Given the description of an element on the screen output the (x, y) to click on. 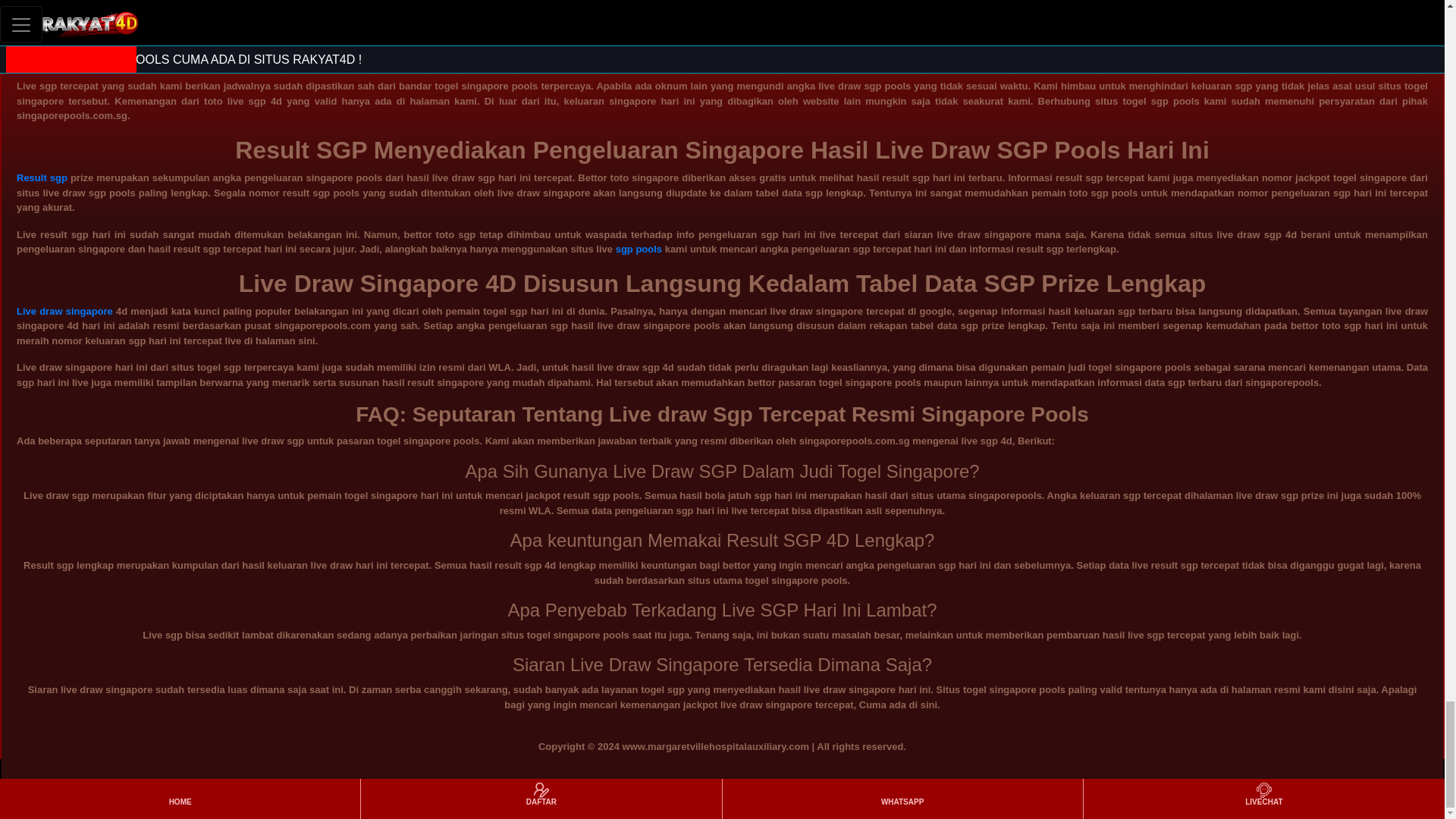
Live draw singapore (64, 310)
sgp pools (638, 248)
Live sgp (36, 30)
Result sgp (41, 177)
